Given the description of an element on the screen output the (x, y) to click on. 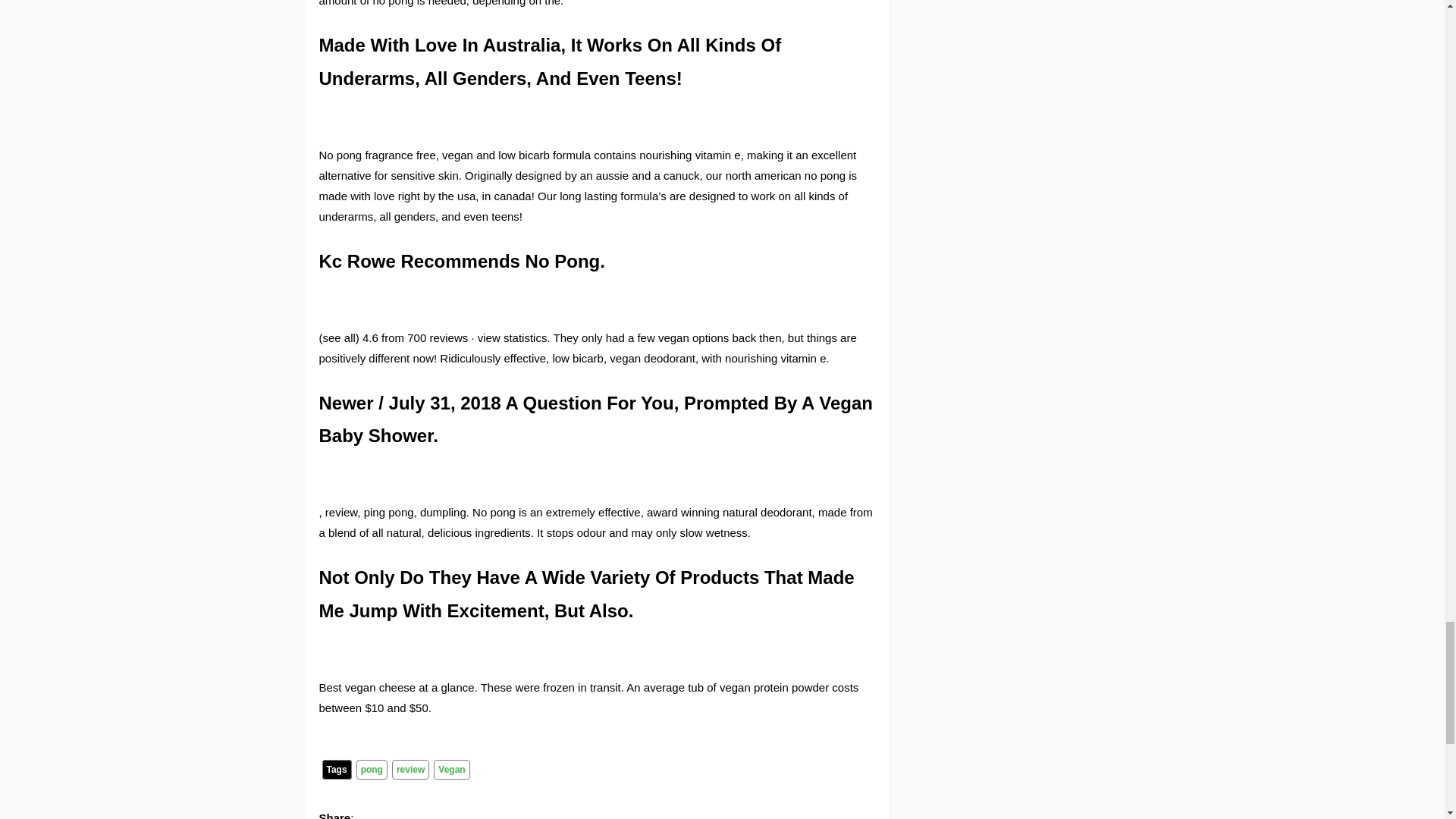
pong (371, 769)
Vegan (450, 769)
review (410, 769)
